Given the description of an element on the screen output the (x, y) to click on. 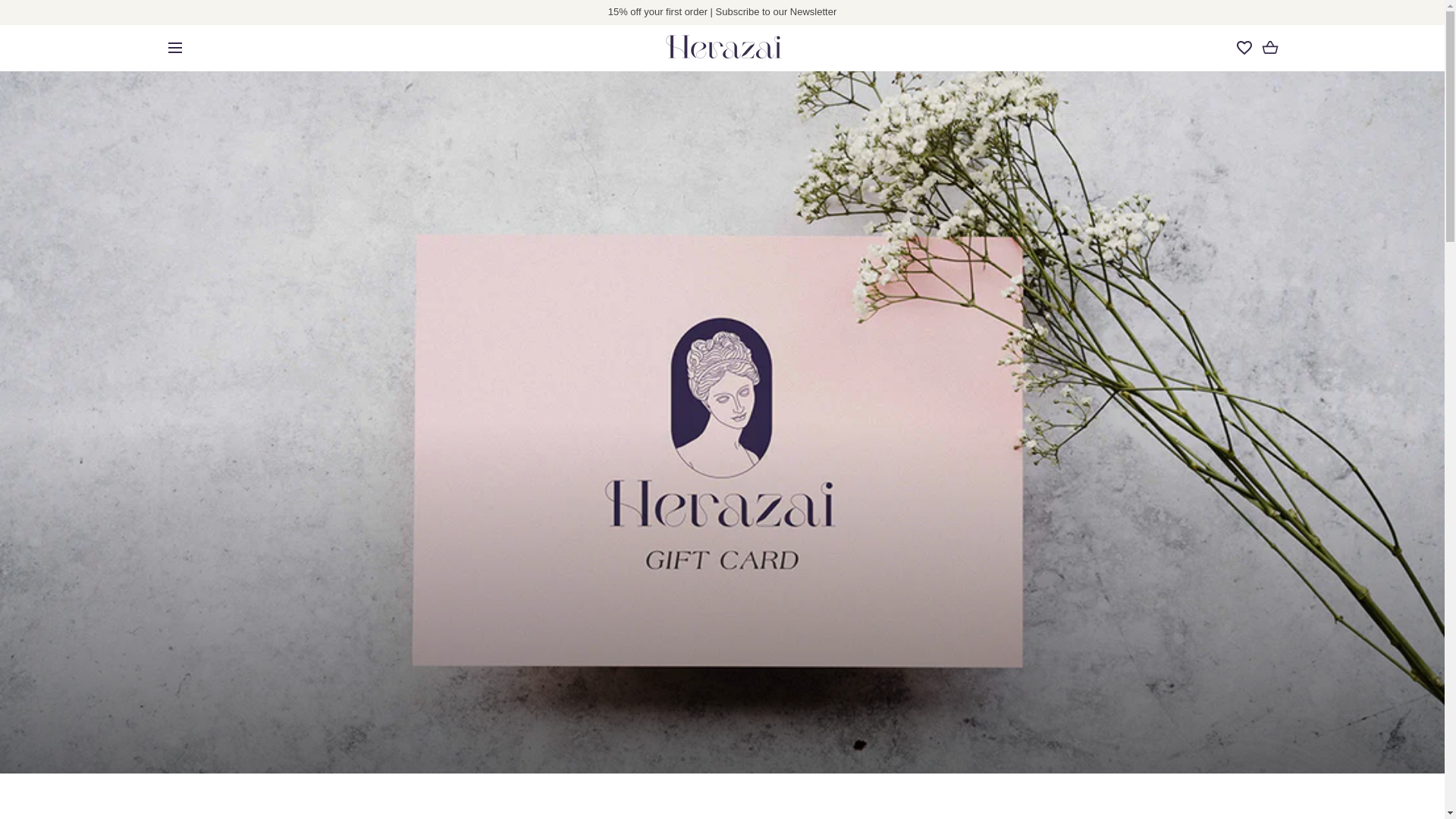
SKIP TO CONTENT (80, 18)
Herazai (722, 48)
